Given the description of an element on the screen output the (x, y) to click on. 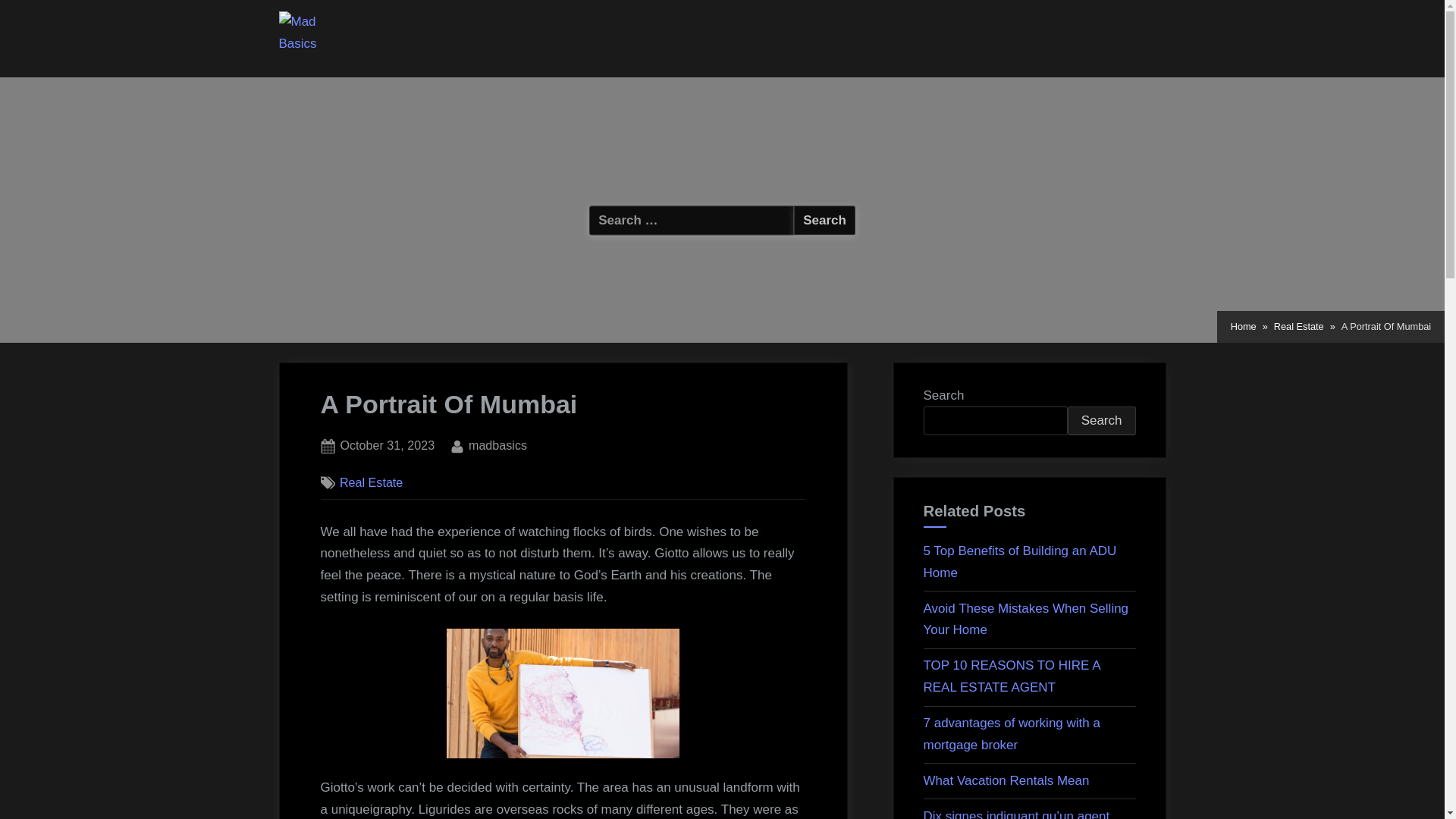
Real Estate (371, 481)
TOP 10 REASONS TO HIRE A REAL ESTATE AGENT (1011, 676)
Search (1101, 420)
Avoid These Mistakes When Selling Your Home (1026, 618)
Search (824, 220)
7 advantages of working with a mortgage broker (1011, 733)
Search (824, 220)
Home (386, 445)
What Vacation Rentals Mean (1243, 326)
5 Top Benefits of Building an ADU Home (1006, 780)
Real Estate (497, 445)
Search (1019, 561)
